Given the description of an element on the screen output the (x, y) to click on. 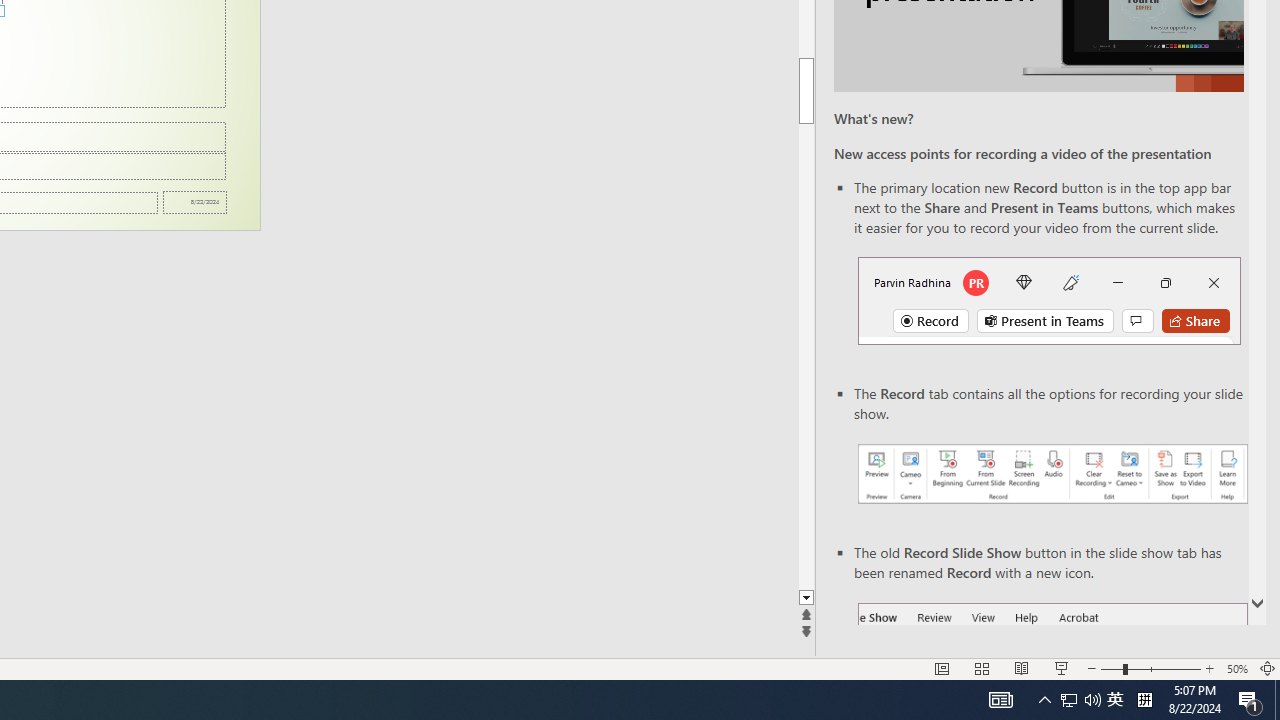
Zoom 50% (1236, 668)
